Given the description of an element on the screen output the (x, y) to click on. 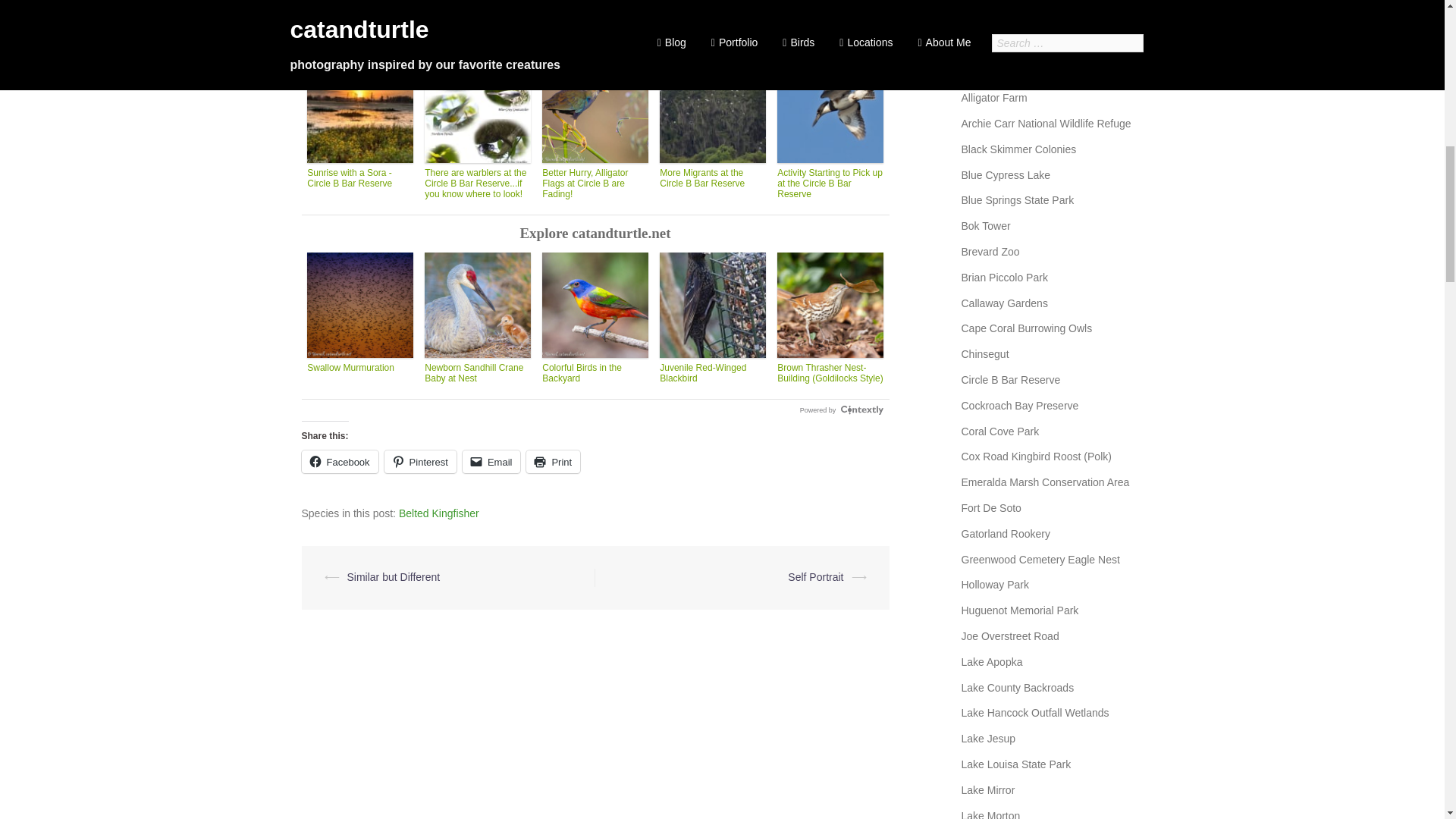
Similar but Different (394, 576)
Pinterest (420, 461)
Print (552, 461)
Belted Kingfisher (438, 514)
Click to share on Pinterest (420, 461)
Click to share on Facebook (339, 461)
Email (492, 461)
Self Portrait (815, 576)
Click to email a link to a friend (492, 461)
Powered by (841, 409)
Facebook (339, 461)
